Given the description of an element on the screen output the (x, y) to click on. 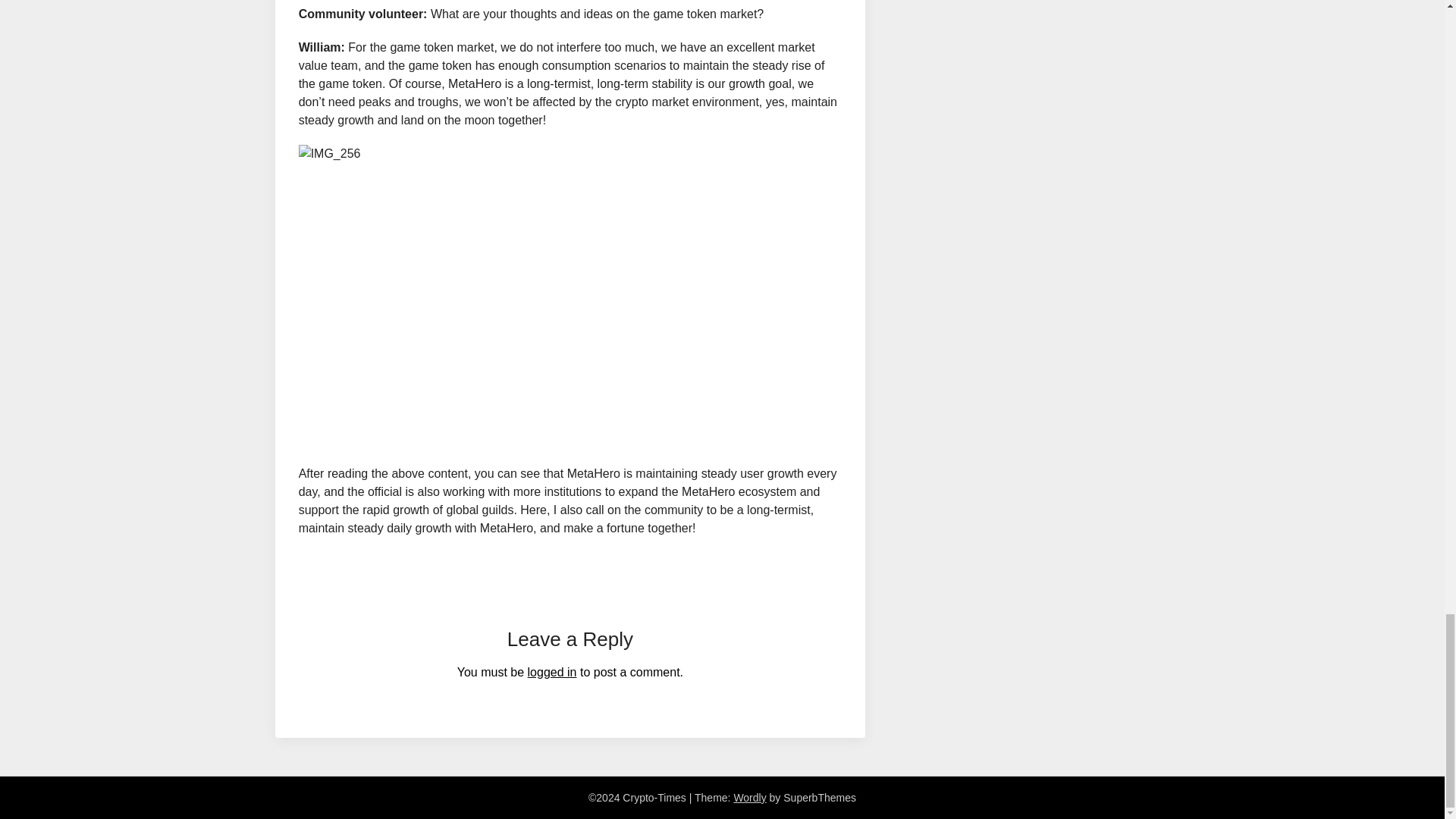
logged in (551, 671)
